Given the description of an element on the screen output the (x, y) to click on. 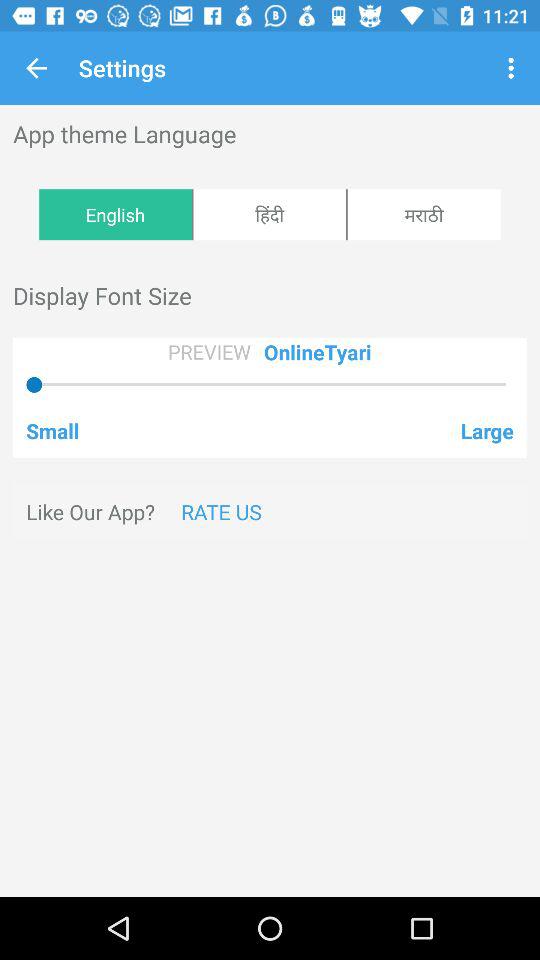
press the icon next to settings app (36, 68)
